Given the description of an element on the screen output the (x, y) to click on. 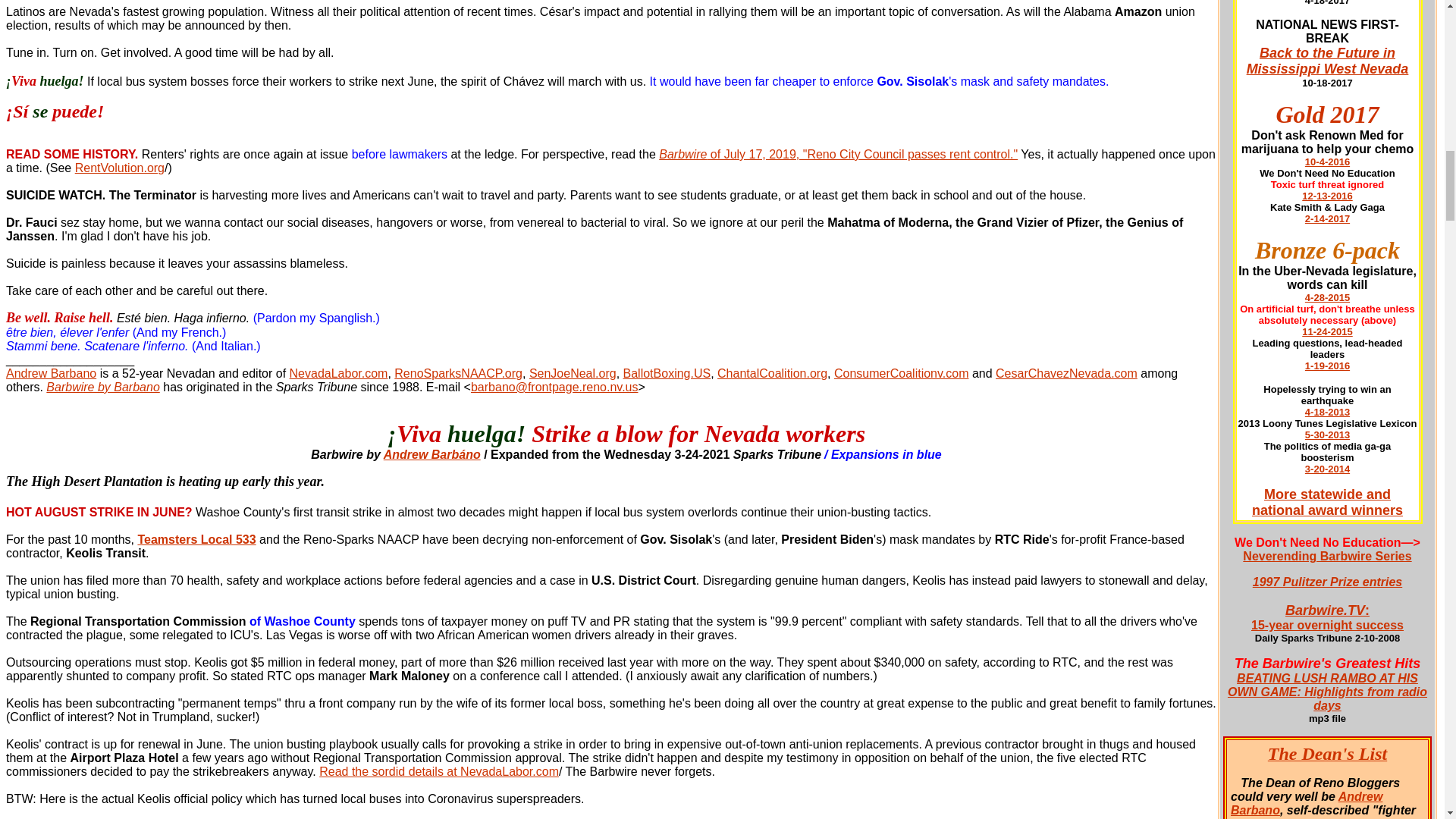
2-14-2017 (1326, 218)
11-24-2015 (1326, 331)
5-30-2013 (1326, 434)
1997 Pulitzer Prize entries (1327, 581)
3-20-2014 (1326, 469)
10-4-2016 (1326, 161)
4-28-2015 (1326, 296)
More statewide and national award winners (1327, 502)
4-18-2013 (1326, 411)
12-13-2016 (1326, 195)
Neverending Barbwire Series (1332, 562)
1-19-2016 (1326, 617)
